Given the description of an element on the screen output the (x, y) to click on. 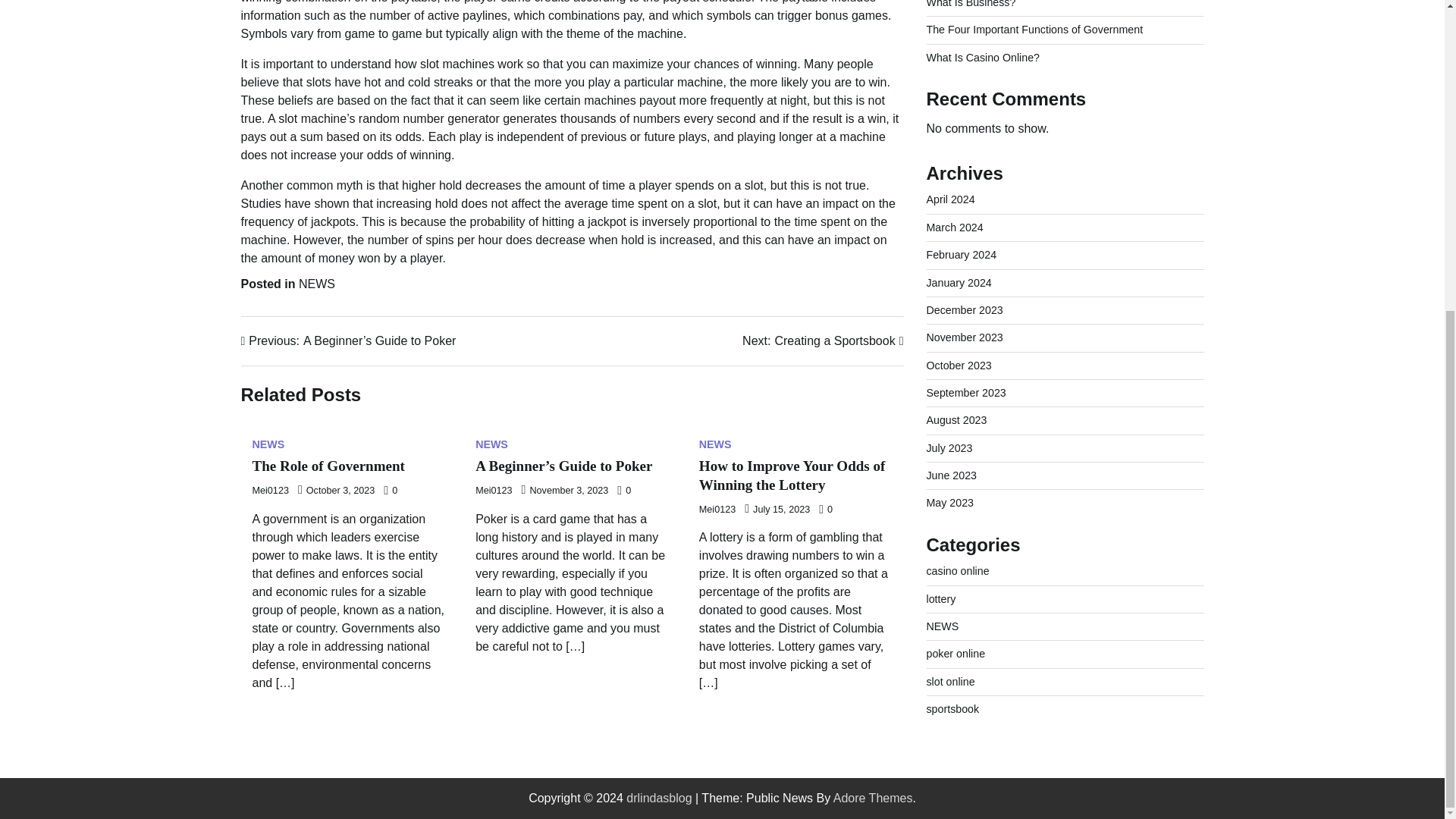
November 2023 (964, 204)
October 2023 (958, 232)
December 2023 (964, 177)
Mei0123 (716, 509)
Mei0123 (494, 490)
Mei0123 (269, 490)
How to Improve Your Odds of Winning the Lottery (791, 475)
March 2024 (955, 94)
January 2024 (822, 341)
NEWS (958, 150)
NEWS (316, 283)
April 2024 (492, 443)
NEWS (950, 66)
The Role of Government (715, 443)
